Given the description of an element on the screen output the (x, y) to click on. 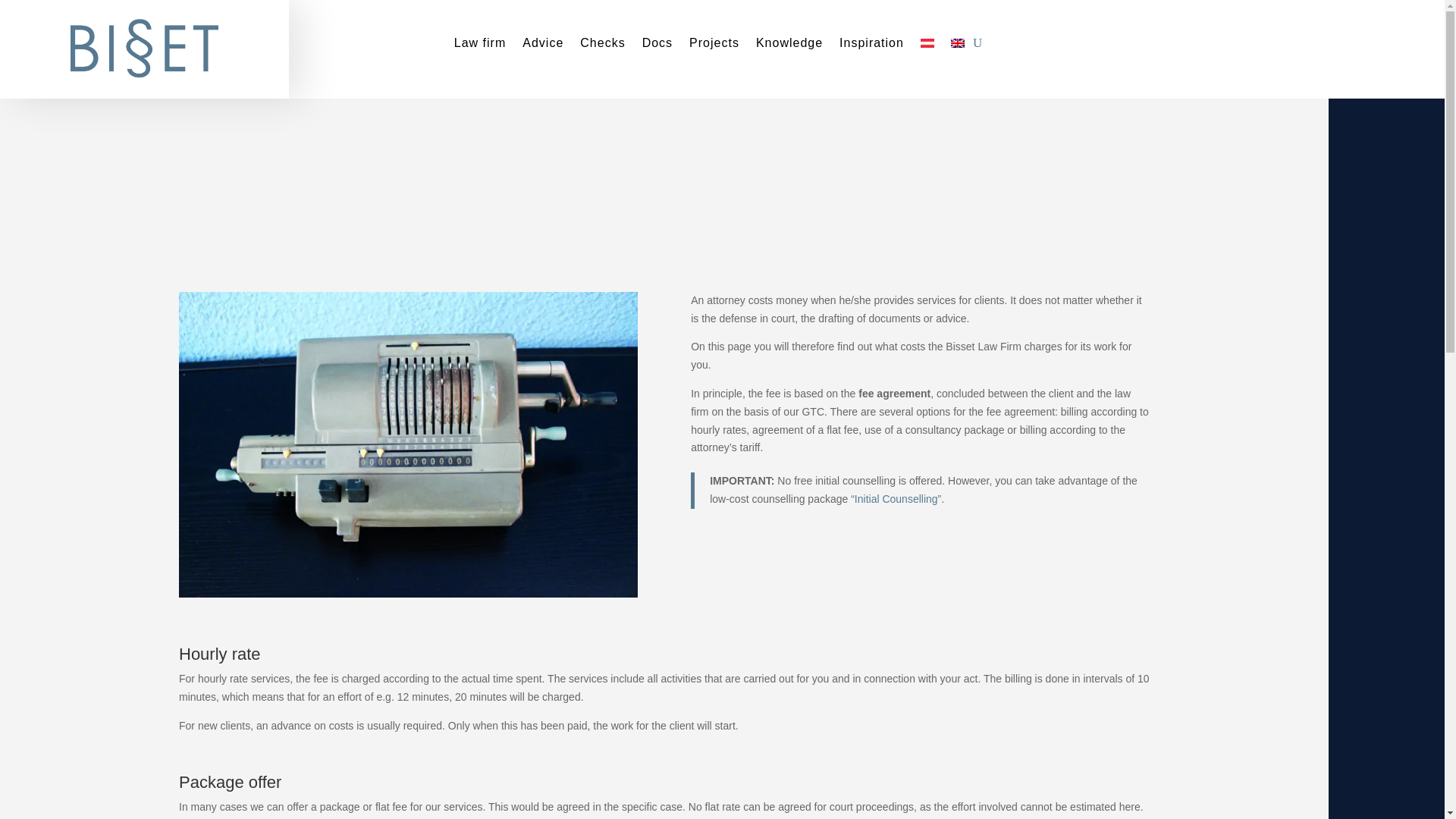
Docs (657, 45)
Projects (713, 45)
Advice (542, 45)
Knowledge (788, 45)
Law firm (479, 45)
Checks (601, 45)
Inspiration (872, 45)
